Given the description of an element on the screen output the (x, y) to click on. 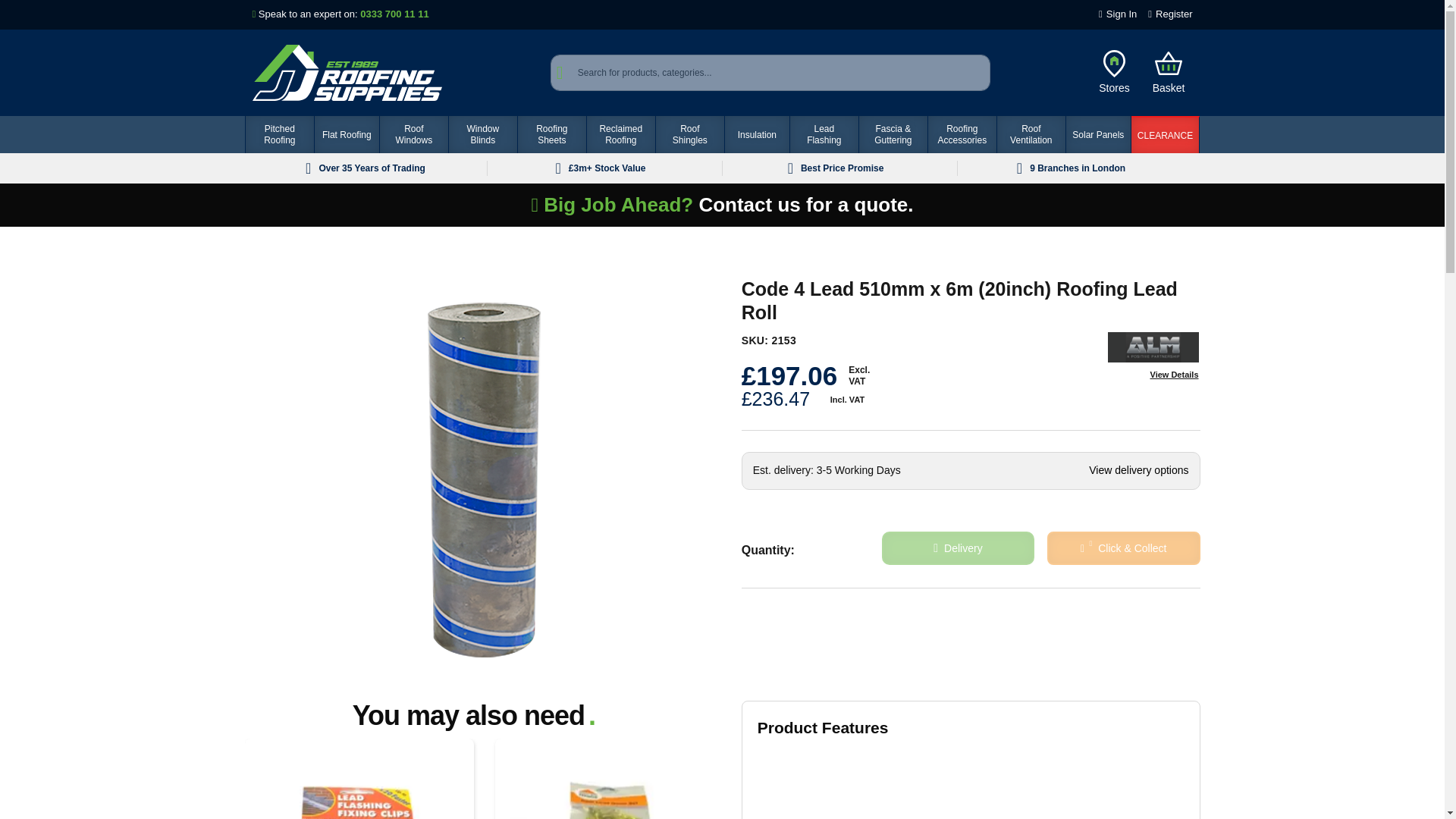
Sign In (1118, 13)
Register (1170, 13)
Speak to an expert (393, 13)
0333 700 11 11 (393, 13)
